Given the description of an element on the screen output the (x, y) to click on. 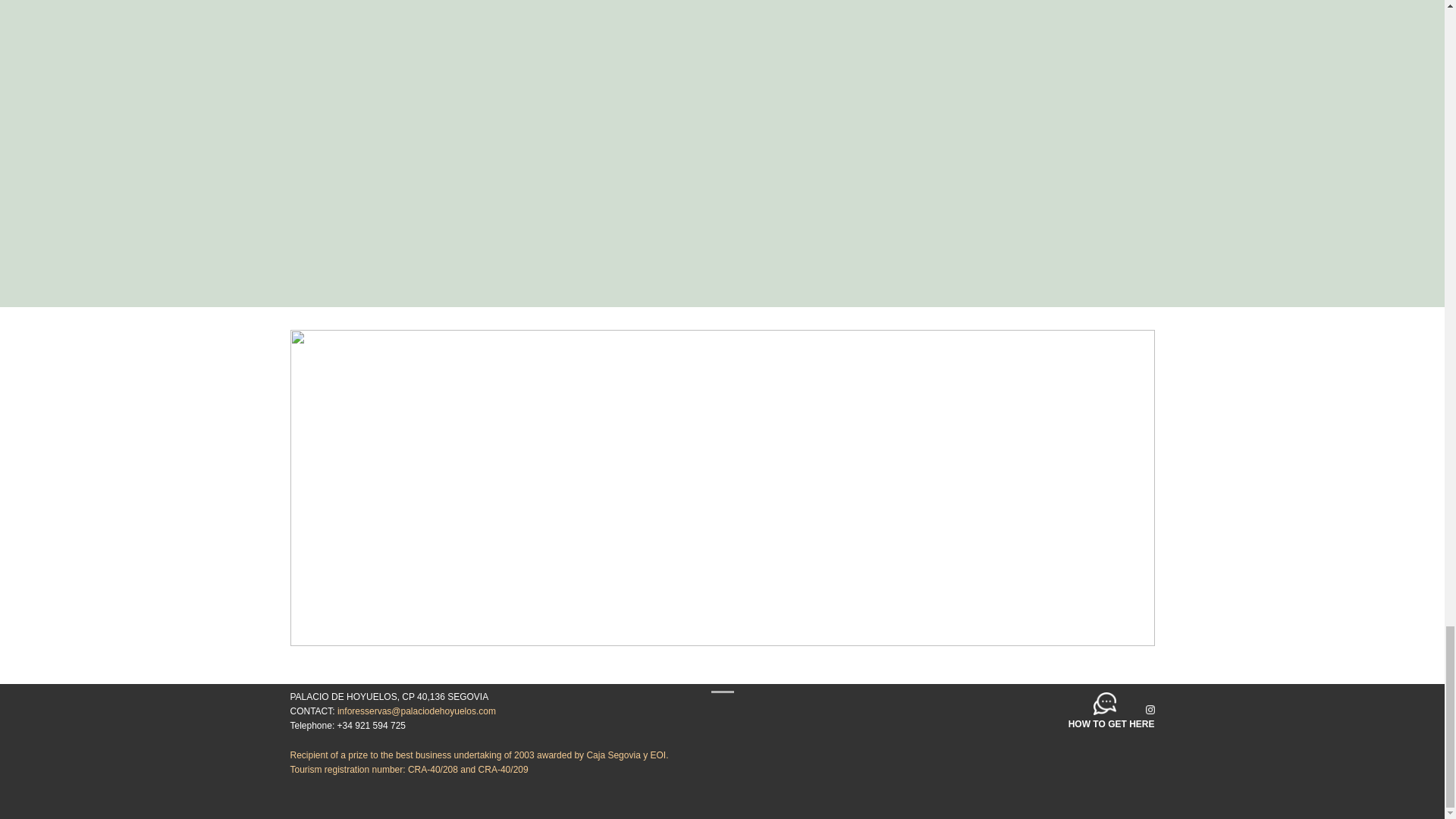
Caja Segovia (613, 755)
HOW TO GET HERE (1111, 724)
EOI (657, 755)
